Given the description of an element on the screen output the (x, y) to click on. 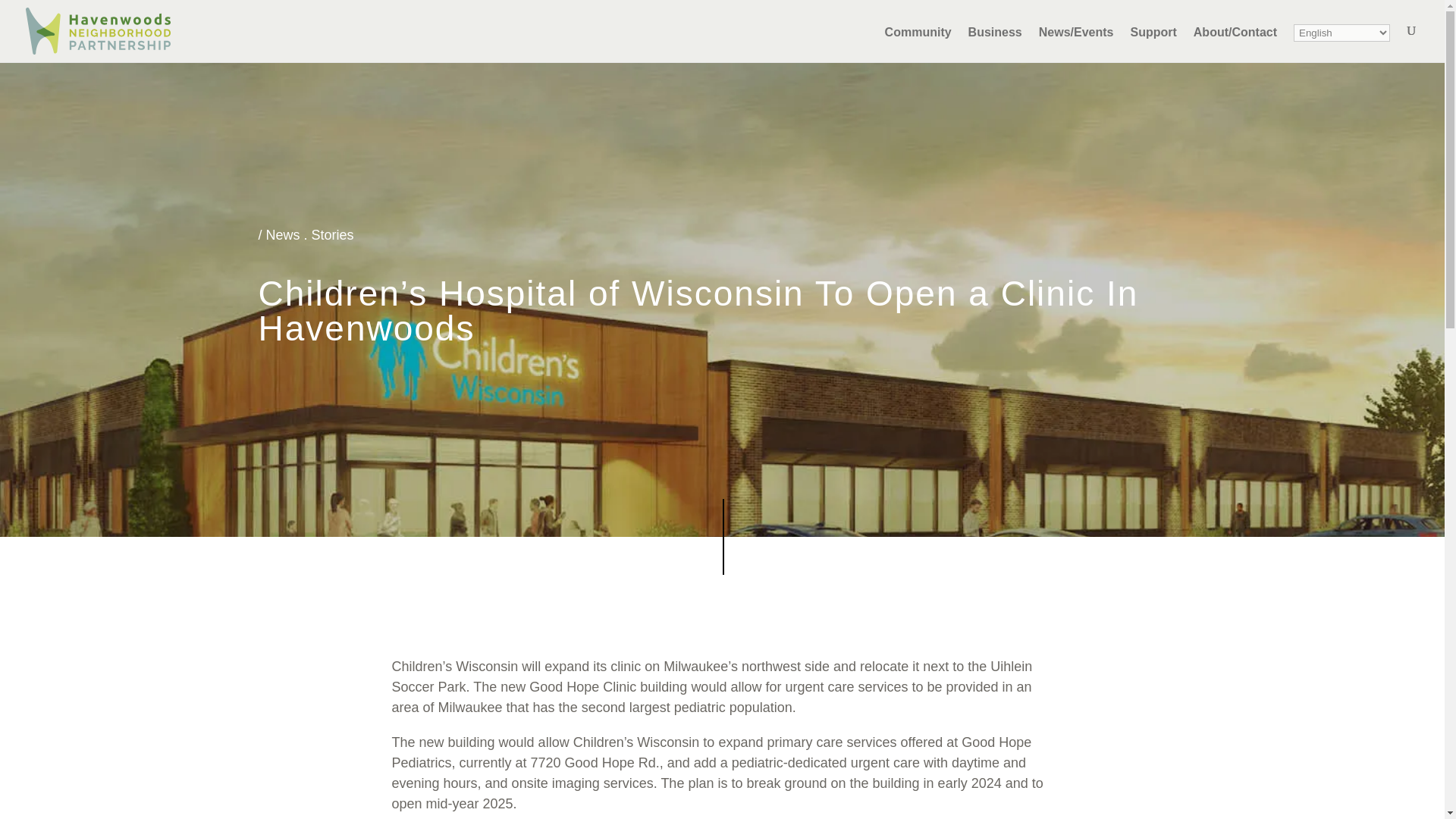
Community (918, 44)
Support (1152, 44)
Business (995, 44)
